Given the description of an element on the screen output the (x, y) to click on. 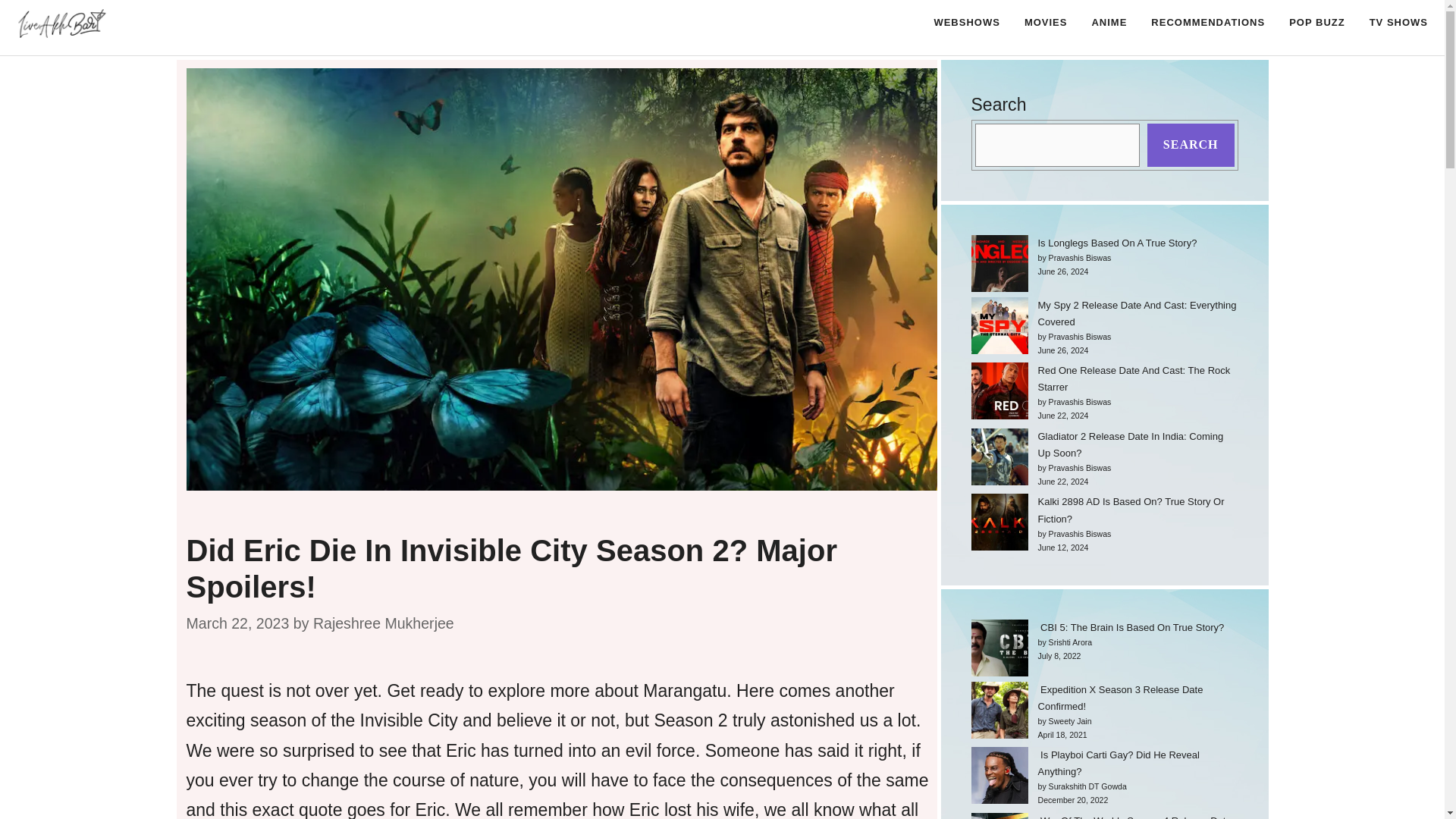
View all posts by Rajeshree Mukherjee (383, 623)
POP BUZZ (1316, 22)
ANIME (1108, 22)
WEBSHOWS (966, 22)
RECOMMENDATIONS (1207, 22)
SEARCH (1190, 145)
 Is Playboi Carti Gay? Did He Reveal Anything? (1117, 763)
Gladiator 2 Release Date In India: Coming Up Soon? (1129, 444)
MOVIES (1045, 22)
Rajeshree Mukherjee (383, 623)
TV SHOWS (1397, 22)
 Expedition X Season 3 Release Date Confirmed! (1119, 697)
 CBI 5: The Brain Is Based On True Story? (1130, 627)
Is Longlegs Based On A True Story? (1116, 242)
Red One Release Date And Cast: The Rock Starrer (1133, 378)
